Given the description of an element on the screen output the (x, y) to click on. 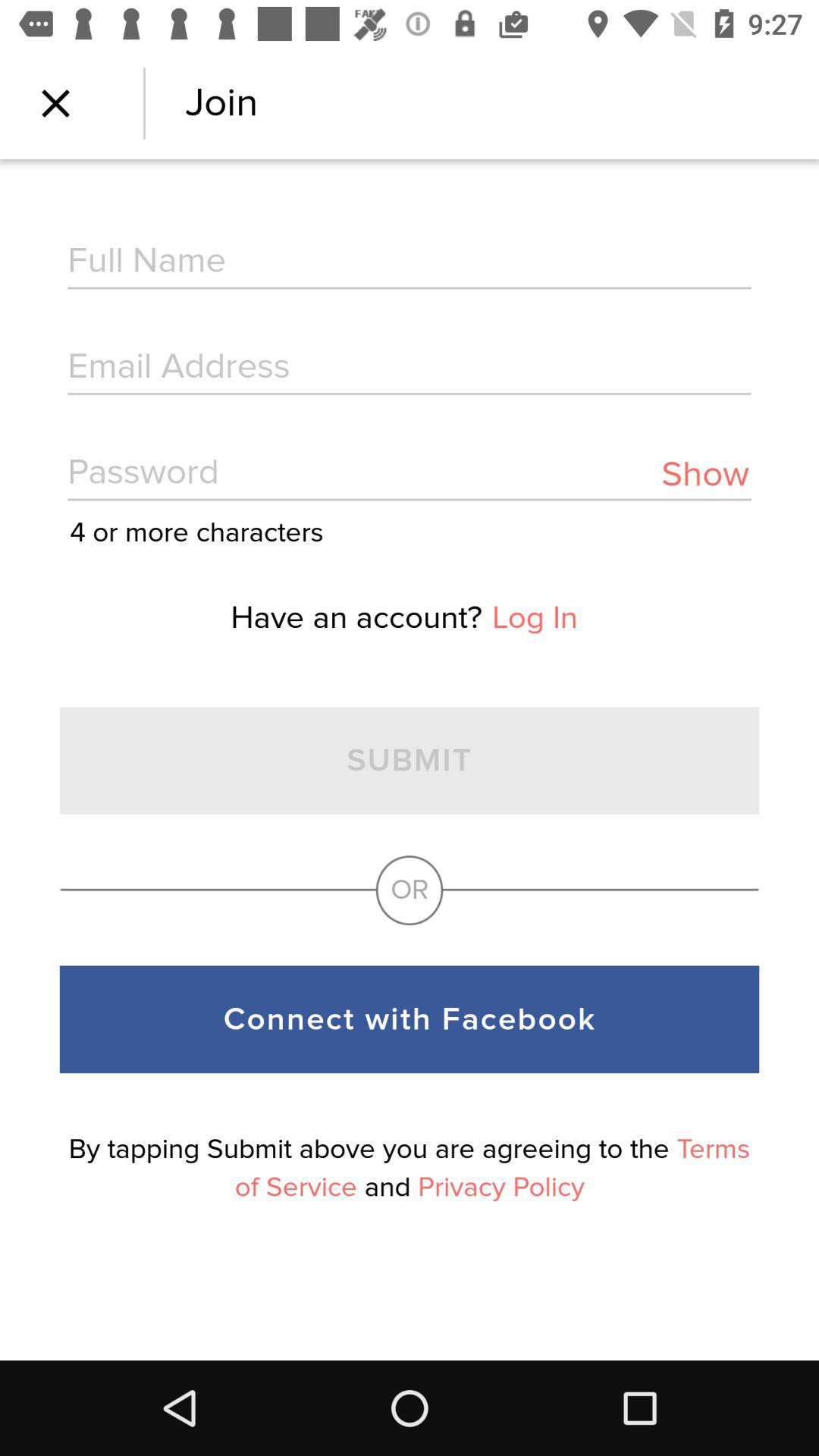
press icon to the right of have an account? item (535, 618)
